Given the description of an element on the screen output the (x, y) to click on. 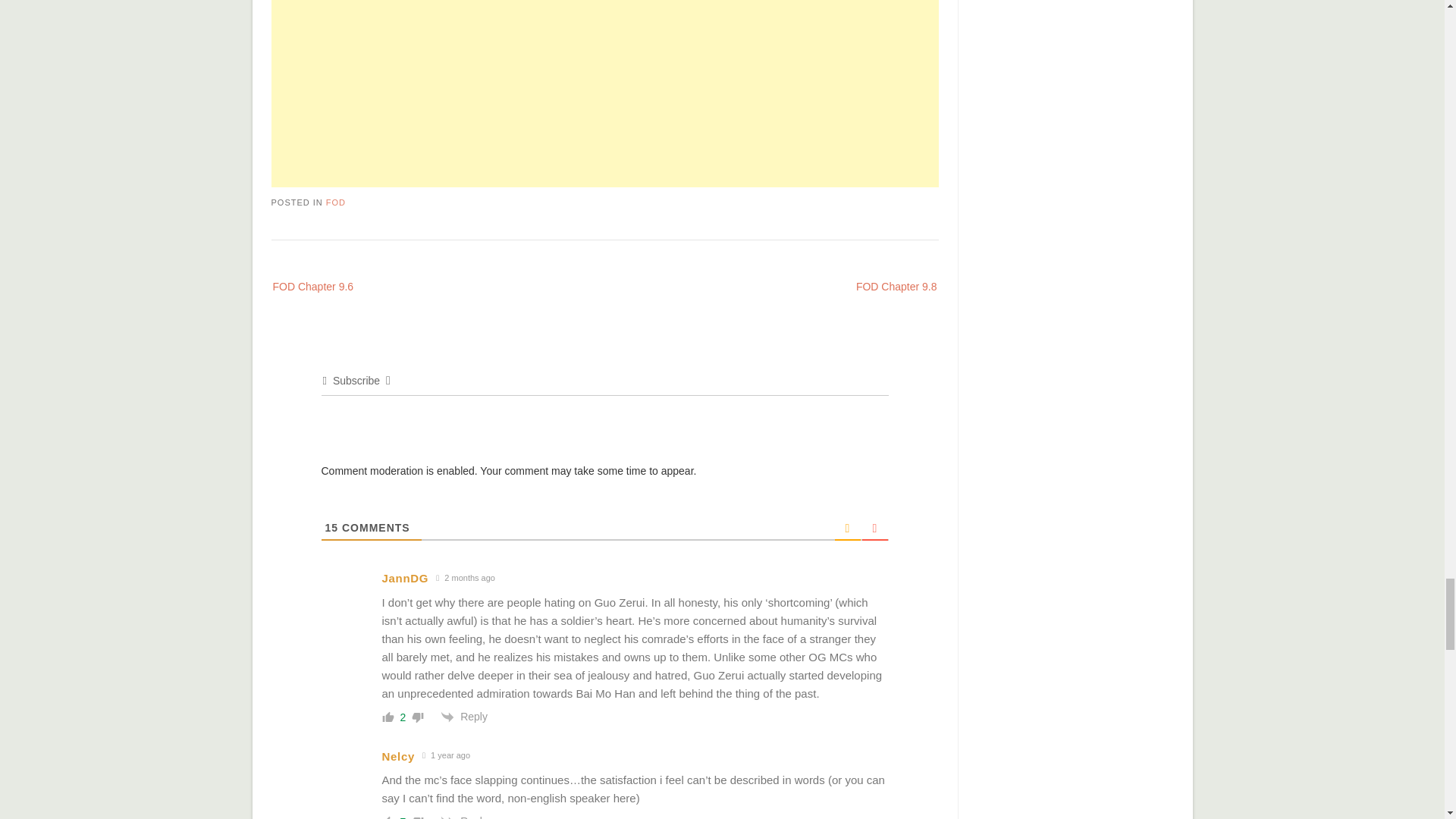
FOD Chapter 9.6 (327, 284)
FOD Chapter 9.8 (882, 284)
FOD (336, 202)
